Given the description of an element on the screen output the (x, y) to click on. 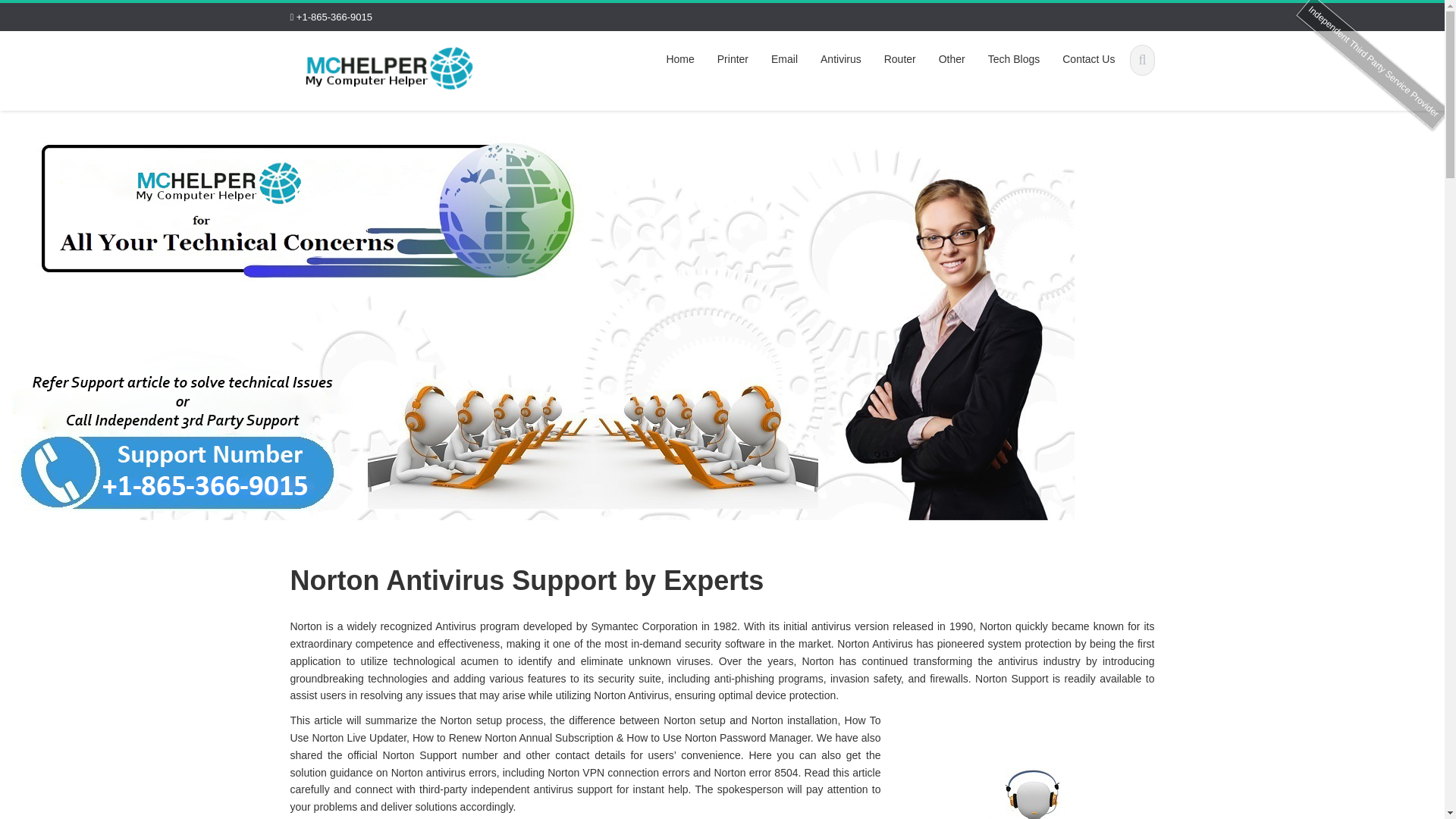
Contact Phone Number (390, 67)
Printer (733, 59)
Router (899, 59)
Home (678, 59)
Other (951, 59)
Antivirus (840, 59)
Email (784, 59)
norton support (1025, 769)
